Given the description of an element on the screen output the (x, y) to click on. 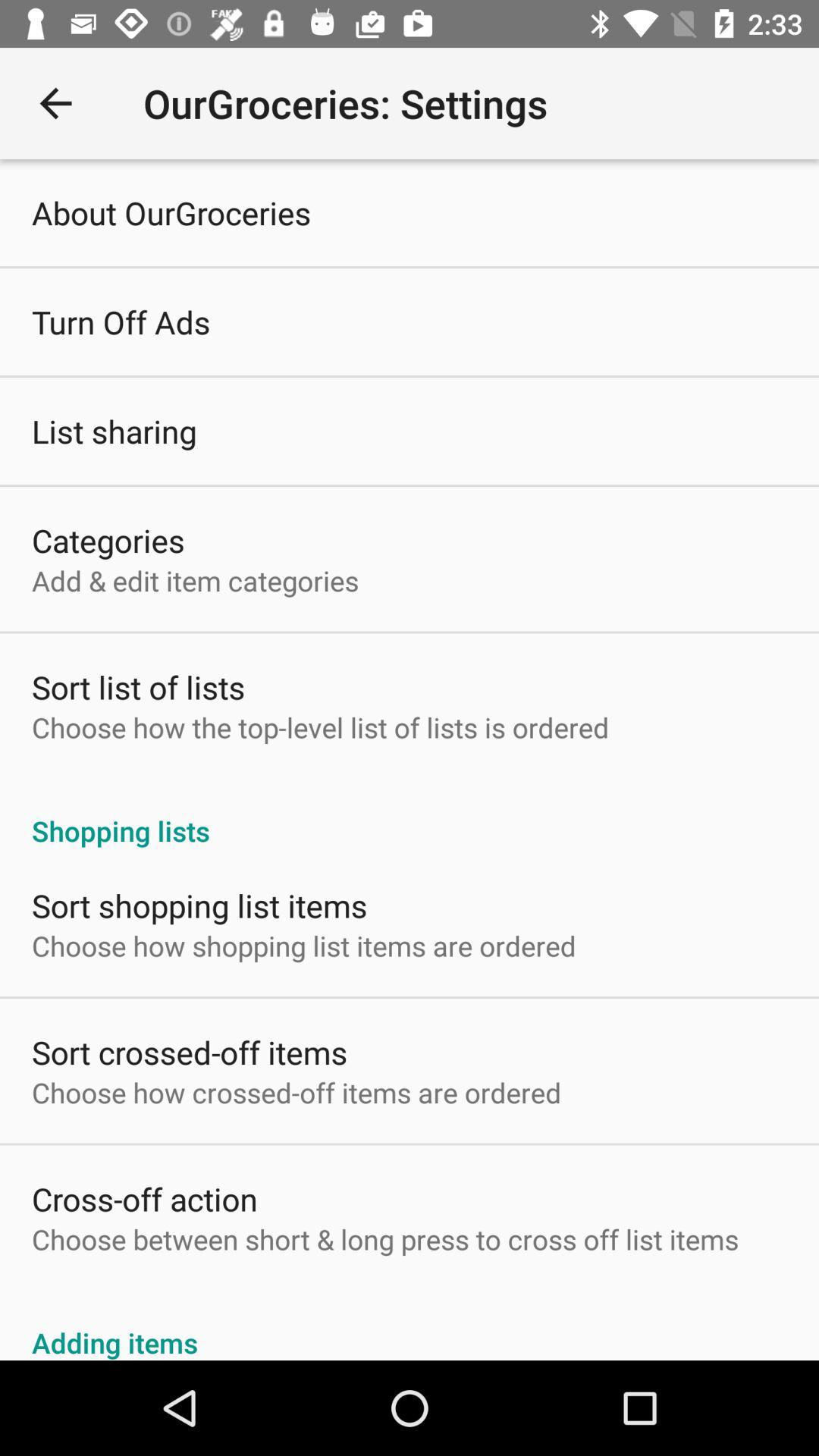
jump until about ourgroceries (171, 212)
